Given the description of an element on the screen output the (x, y) to click on. 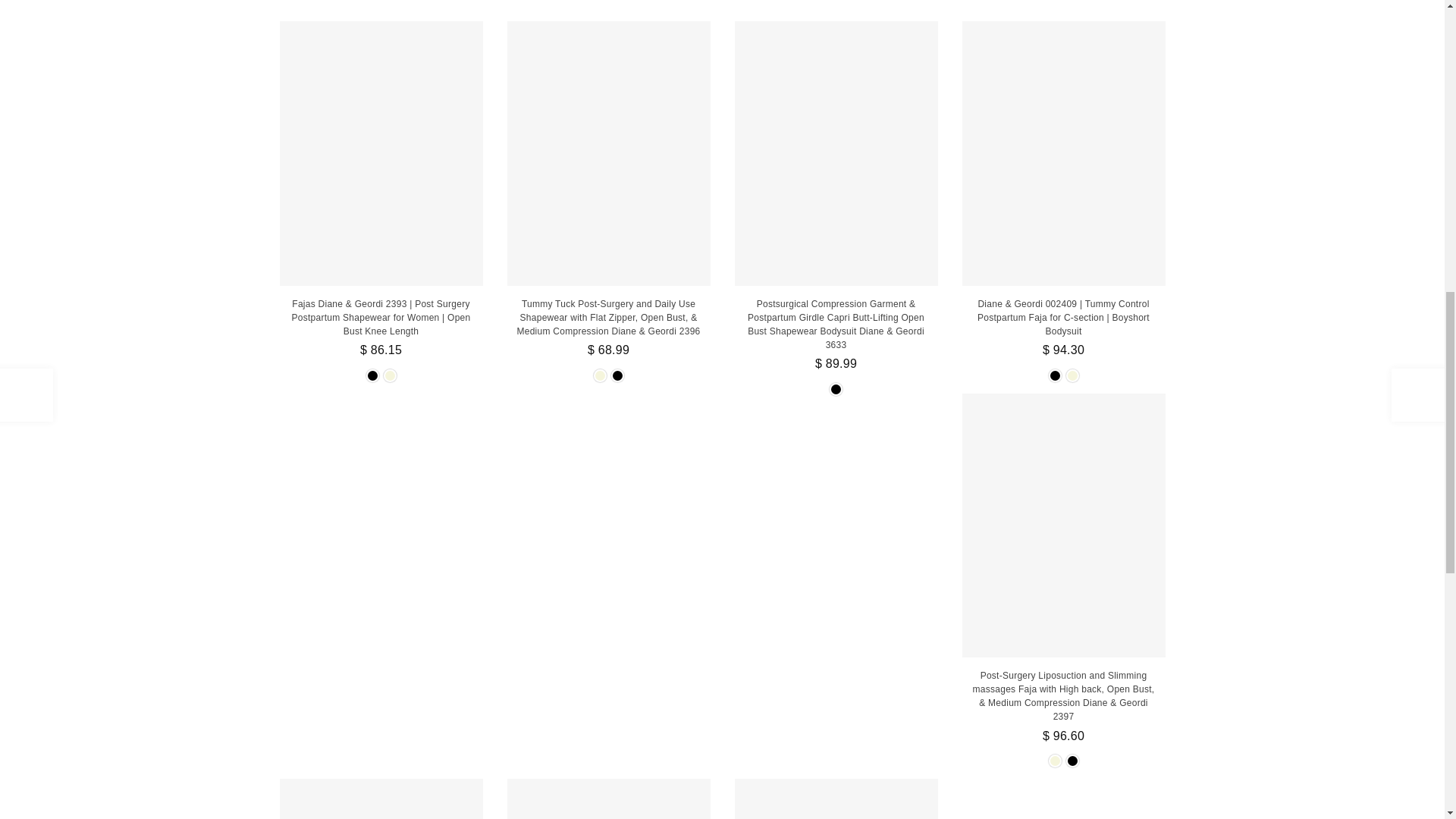
Beige (390, 375)
Black (617, 375)
Beige (598, 375)
Black (371, 375)
